Given the description of an element on the screen output the (x, y) to click on. 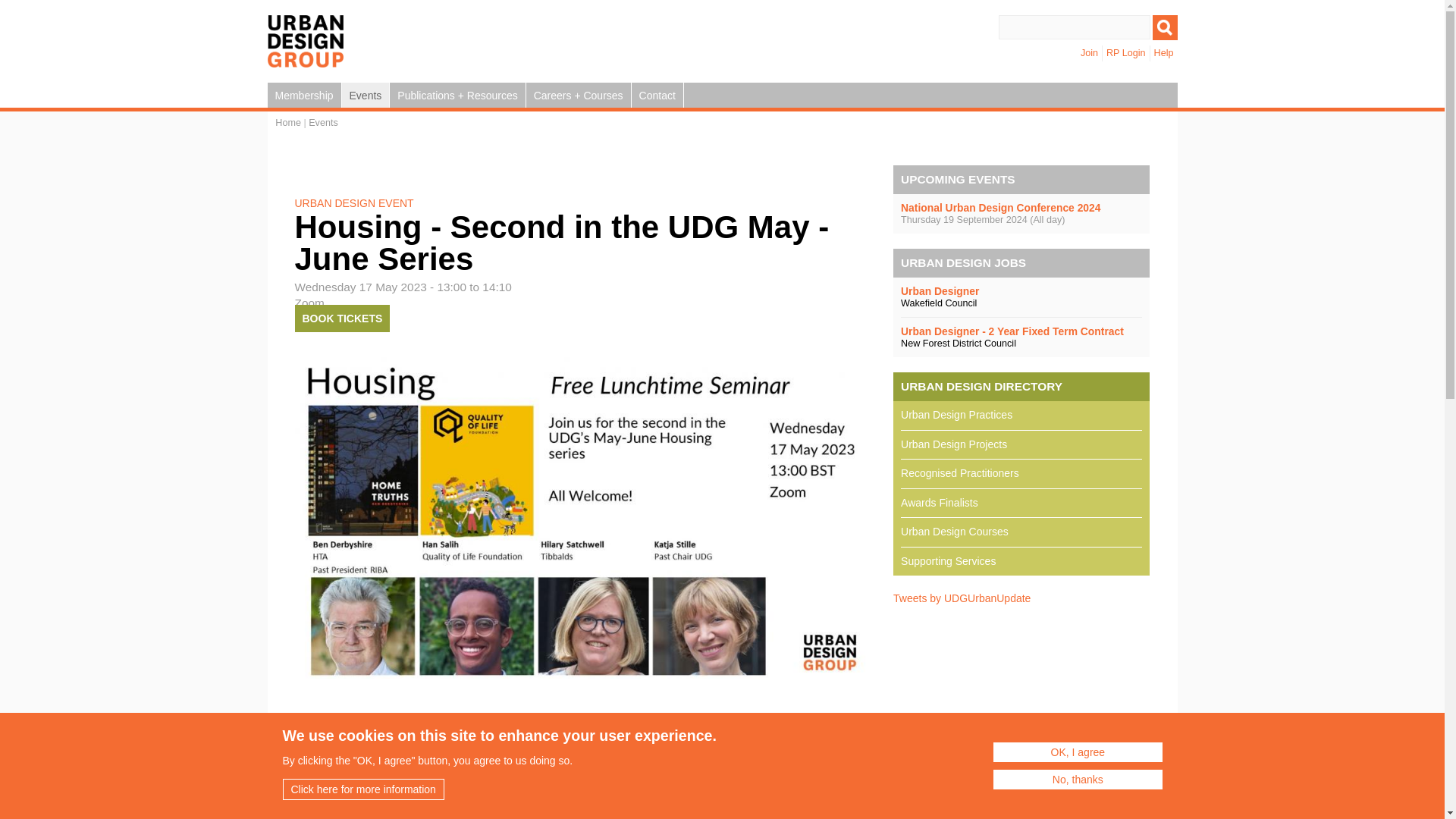
Search (1165, 27)
URBAN DESIGN EVENT (353, 203)
Help (1163, 53)
Contact (657, 94)
Find out about upcoming and past Urban Design events (366, 94)
Find about Urban Design Group membership (303, 94)
Search (1165, 27)
Find out about upcoming and past Urban Design events (322, 122)
Enter the terms you wish to search for. (1073, 27)
Events (366, 94)
Membership (303, 94)
Home (288, 122)
RP Login (1126, 53)
Join (1089, 53)
Events (322, 122)
